Given the description of an element on the screen output the (x, y) to click on. 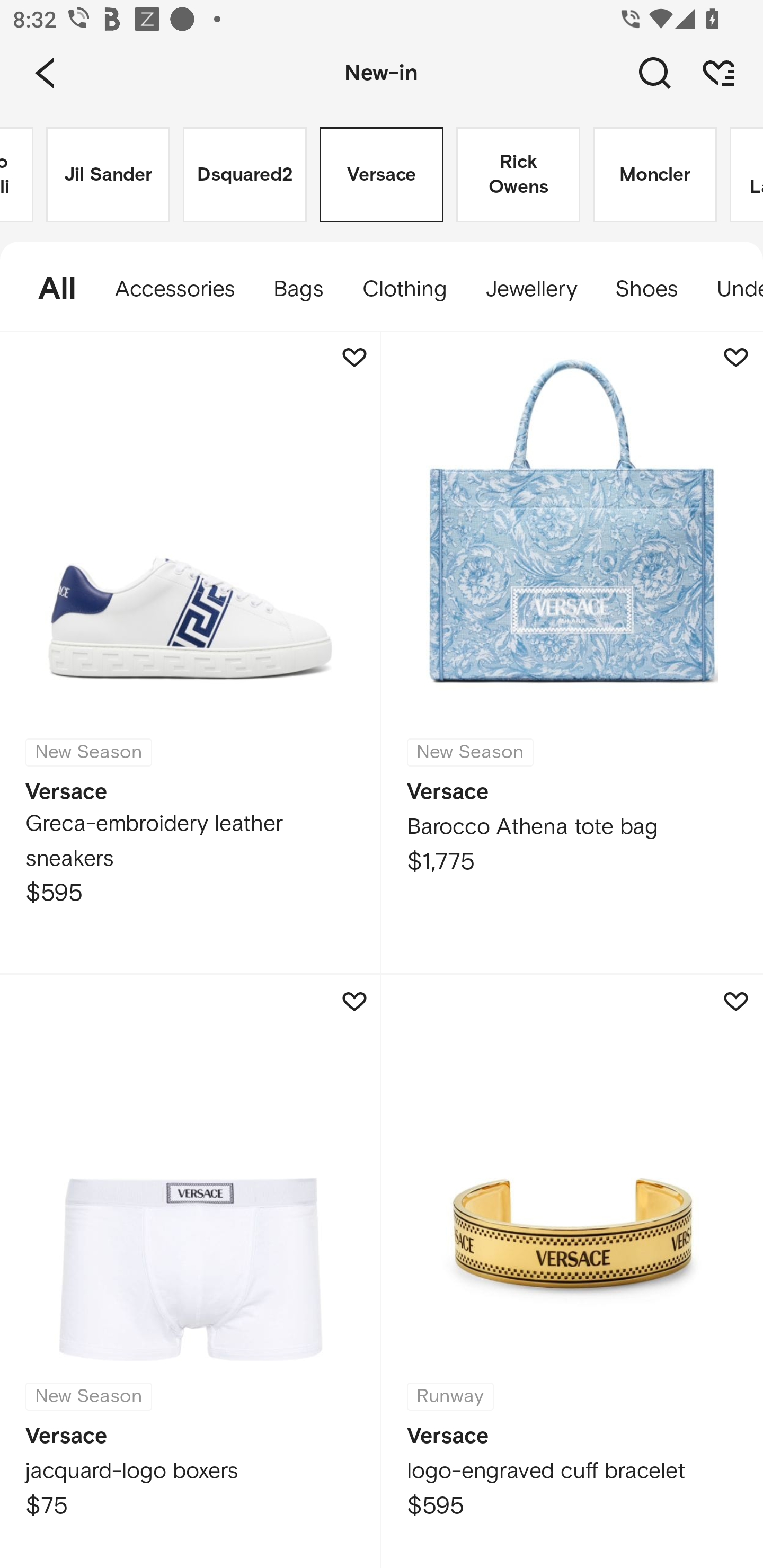
Jil Sander (107, 174)
Dsquared2 (244, 174)
Versace (381, 174)
Rick Owens (517, 174)
Moncler (654, 174)
All (47, 289)
Accessories (174, 289)
Bags (298, 289)
Clothing (403, 289)
Jewellery (530, 289)
Shoes (646, 289)
New Season Versace Barocco Athena tote bag $1,775 (572, 652)
New Season Versace jacquard-logo boxers $75 (190, 1271)
Runway Versace logo-engraved cuff bracelet $595 (572, 1271)
